Given the description of an element on the screen output the (x, y) to click on. 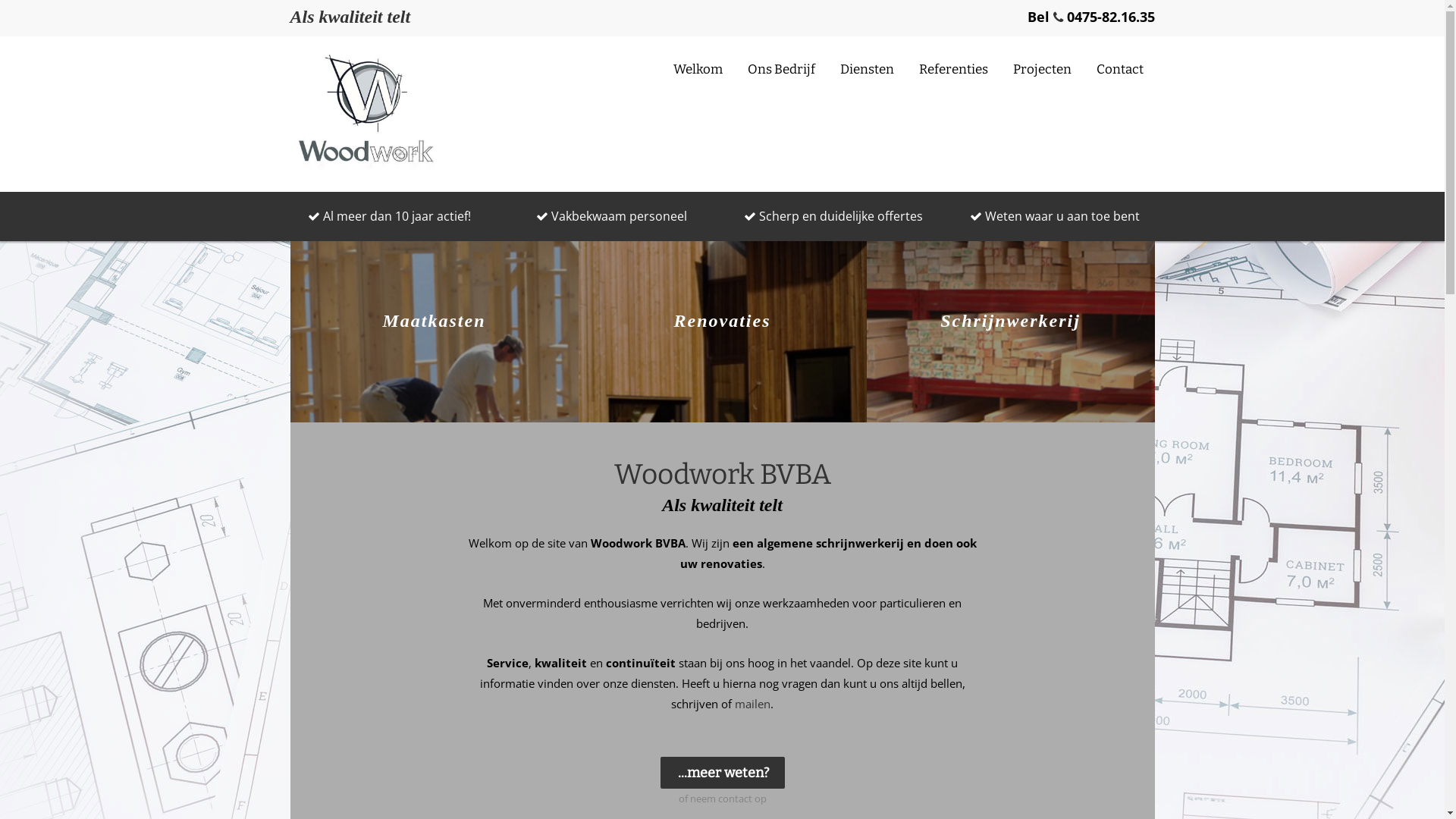
Projecten Element type: text (1041, 69)
Welkom Element type: text (697, 69)
of neem contact op Element type: text (721, 798)
Contact Element type: text (1119, 69)
Ons Bedrijf Element type: text (780, 69)
Referenties Element type: text (952, 69)
Diensten Element type: text (866, 69)
...meer weten? Element type: text (721, 772)
mailen Element type: text (752, 703)
Bel 0475-82.16.35 Element type: text (1090, 16)
